Given the description of an element on the screen output the (x, y) to click on. 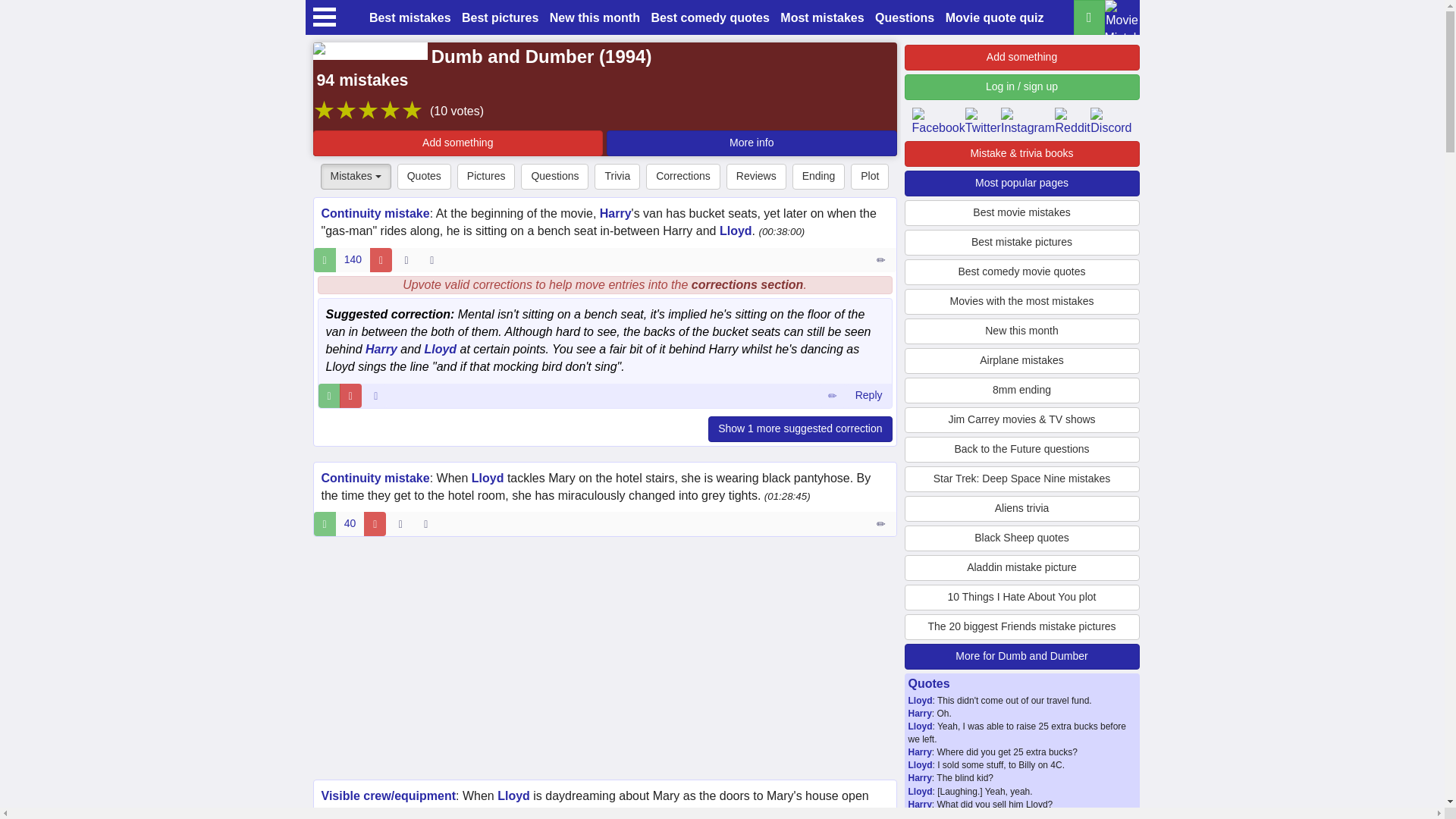
I dislike this (350, 395)
Comment on correction 115749 (868, 395)
Share this entry (434, 259)
I dislike this (380, 259)
ID 2501: 27th August 2001 (406, 259)
Edit correction 115749 (831, 395)
ID 115749: 2nd Oct 2023 (376, 395)
Entry 2501 (881, 259)
I like this (329, 395)
I like this (325, 259)
